Given the description of an element on the screen output the (x, y) to click on. 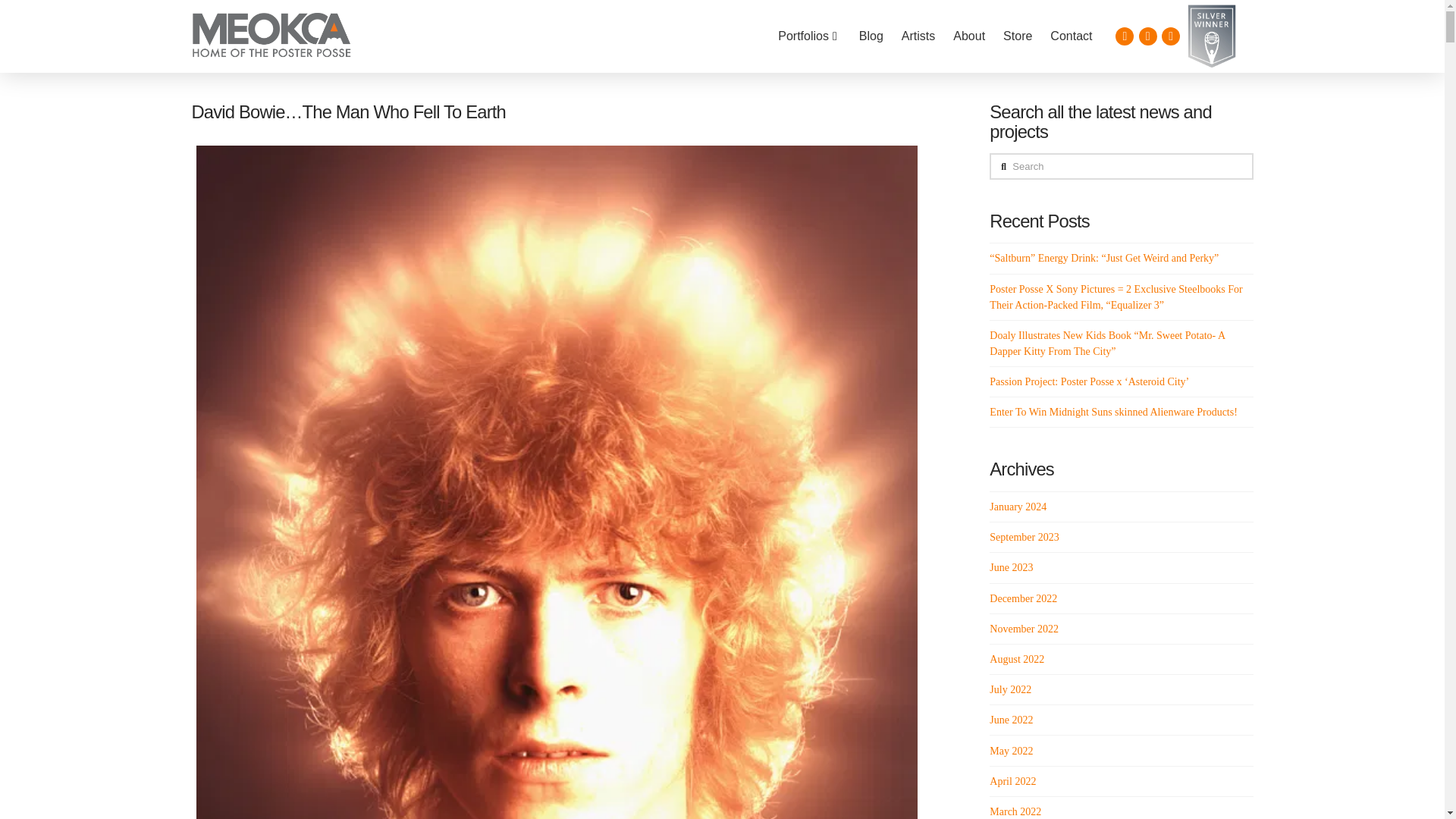
Artists (917, 36)
About (968, 36)
Contact (1070, 36)
Store (1017, 36)
Blog (871, 36)
Portfolios (809, 36)
